Given the description of an element on the screen output the (x, y) to click on. 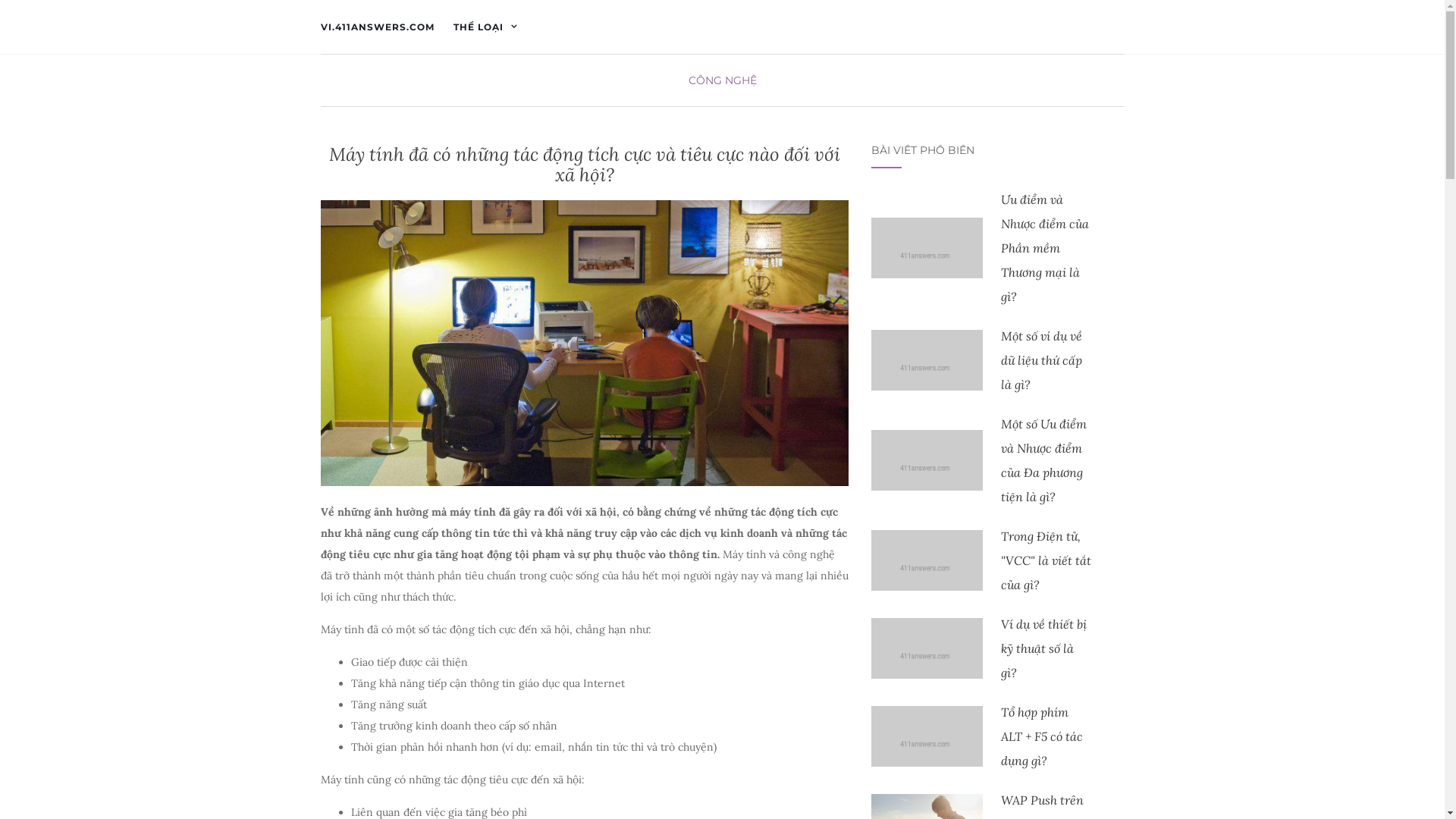
VI.411ANSWERS.COM Element type: text (376, 26)
